Given the description of an element on the screen output the (x, y) to click on. 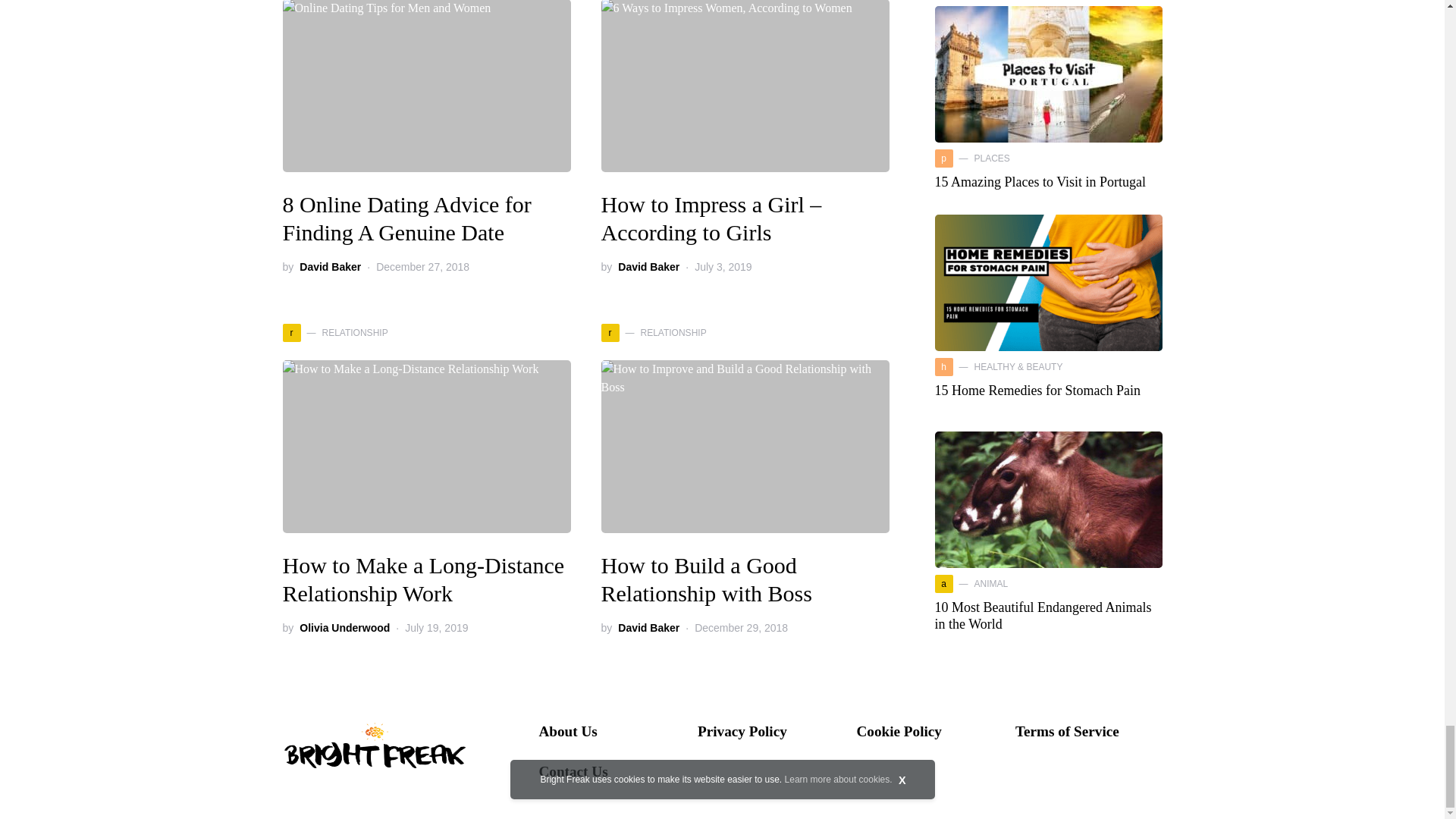
View all posts by David Baker (648, 627)
View all posts by Olivia Underwood (344, 627)
View all posts by David Baker (330, 267)
View all posts by David Baker (648, 267)
